Given the description of an element on the screen output the (x, y) to click on. 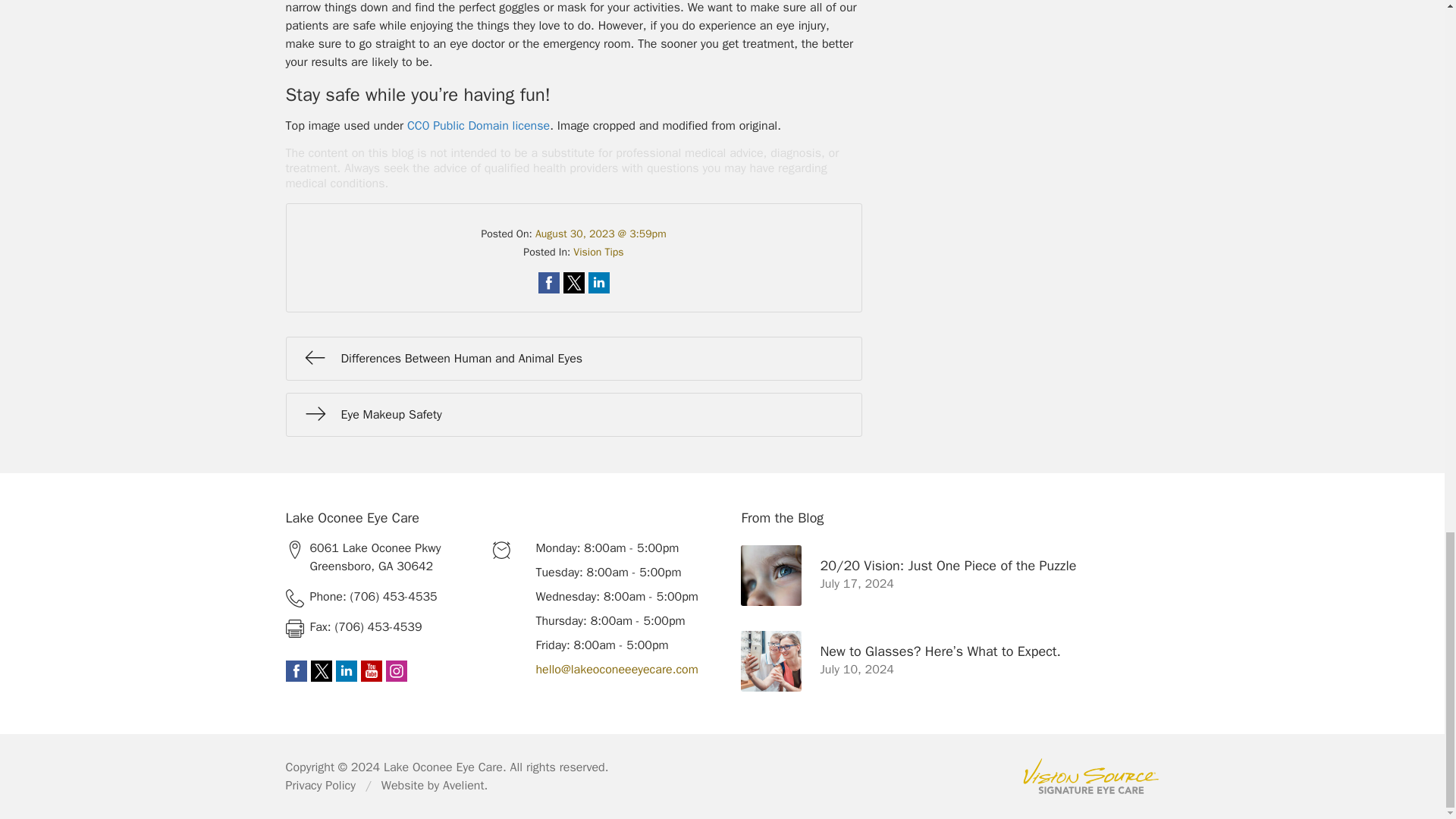
Share on Facebook (548, 282)
Open this Address on Google Maps (382, 556)
Call practice (382, 597)
Share on Twitter (572, 282)
Share on LinkedIn (599, 282)
